Given the description of an element on the screen output the (x, y) to click on. 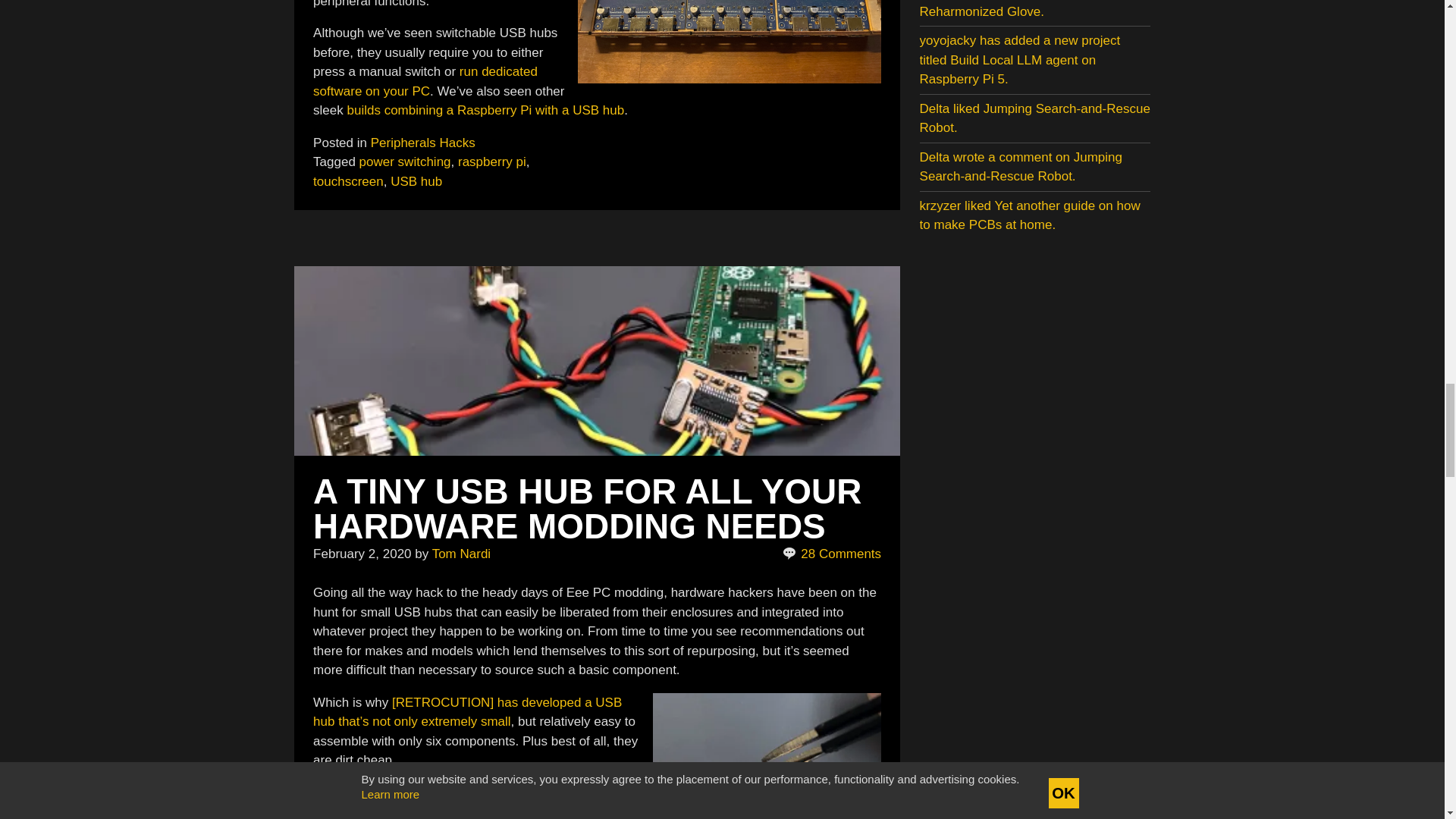
February 2, 2020 - 1:00 pm (361, 554)
Posts by Tom Nardi (461, 554)
